Given the description of an element on the screen output the (x, y) to click on. 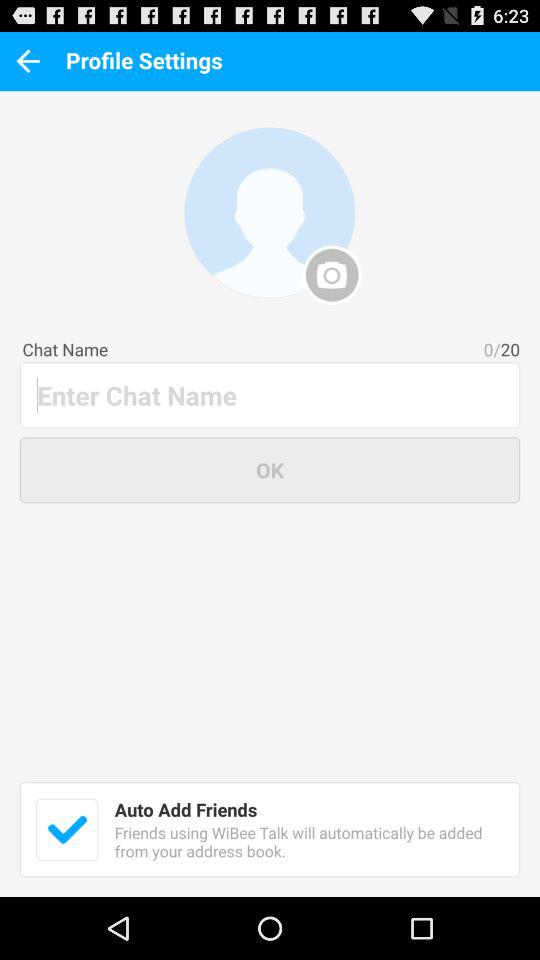
select option (67, 829)
